Given the description of an element on the screen output the (x, y) to click on. 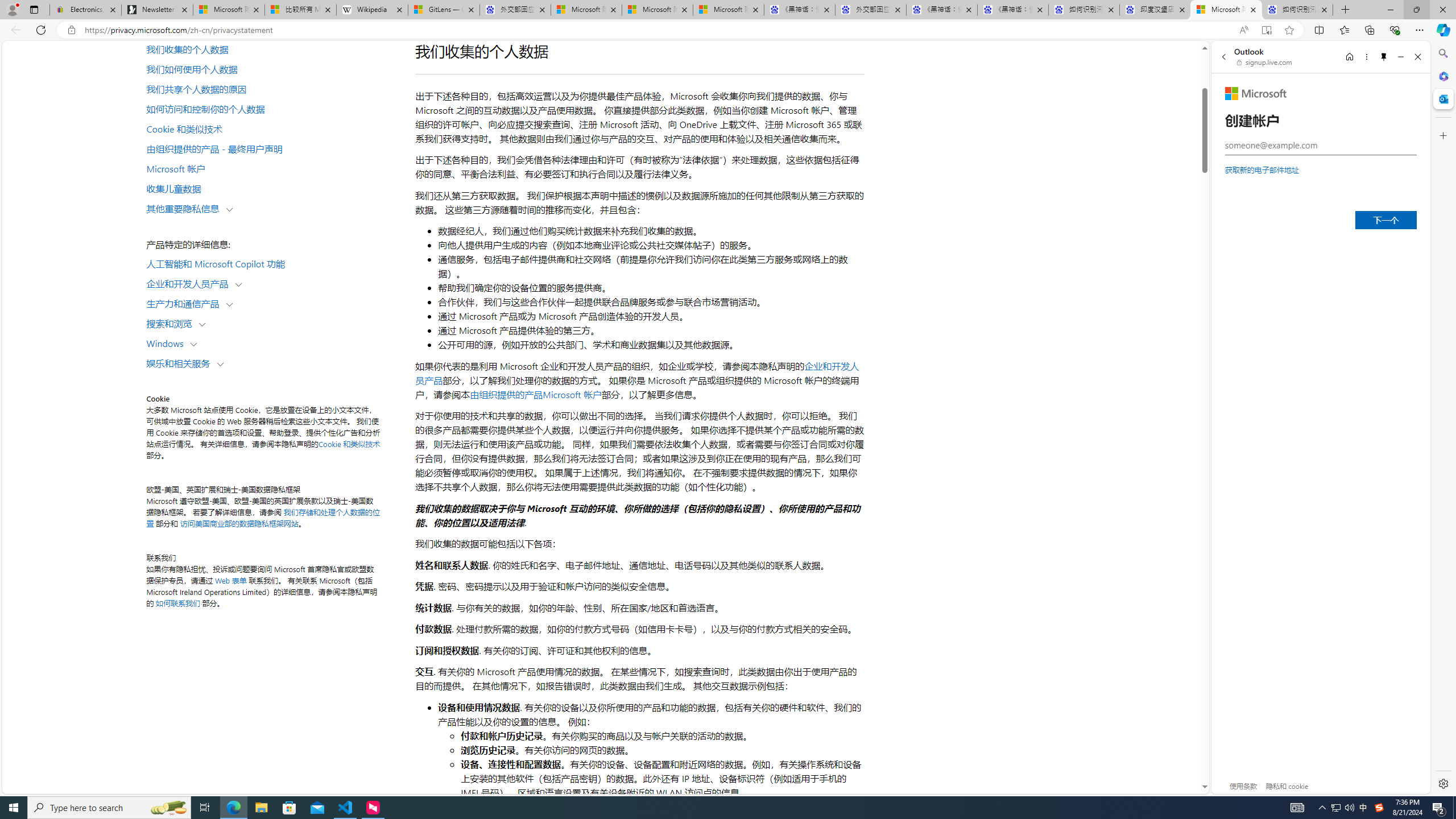
Wikipedia (372, 9)
Electronics, Cars, Fashion, Collectibles & More | eBay (85, 9)
signup.live.com (1264, 61)
